Given the description of an element on the screen output the (x, y) to click on. 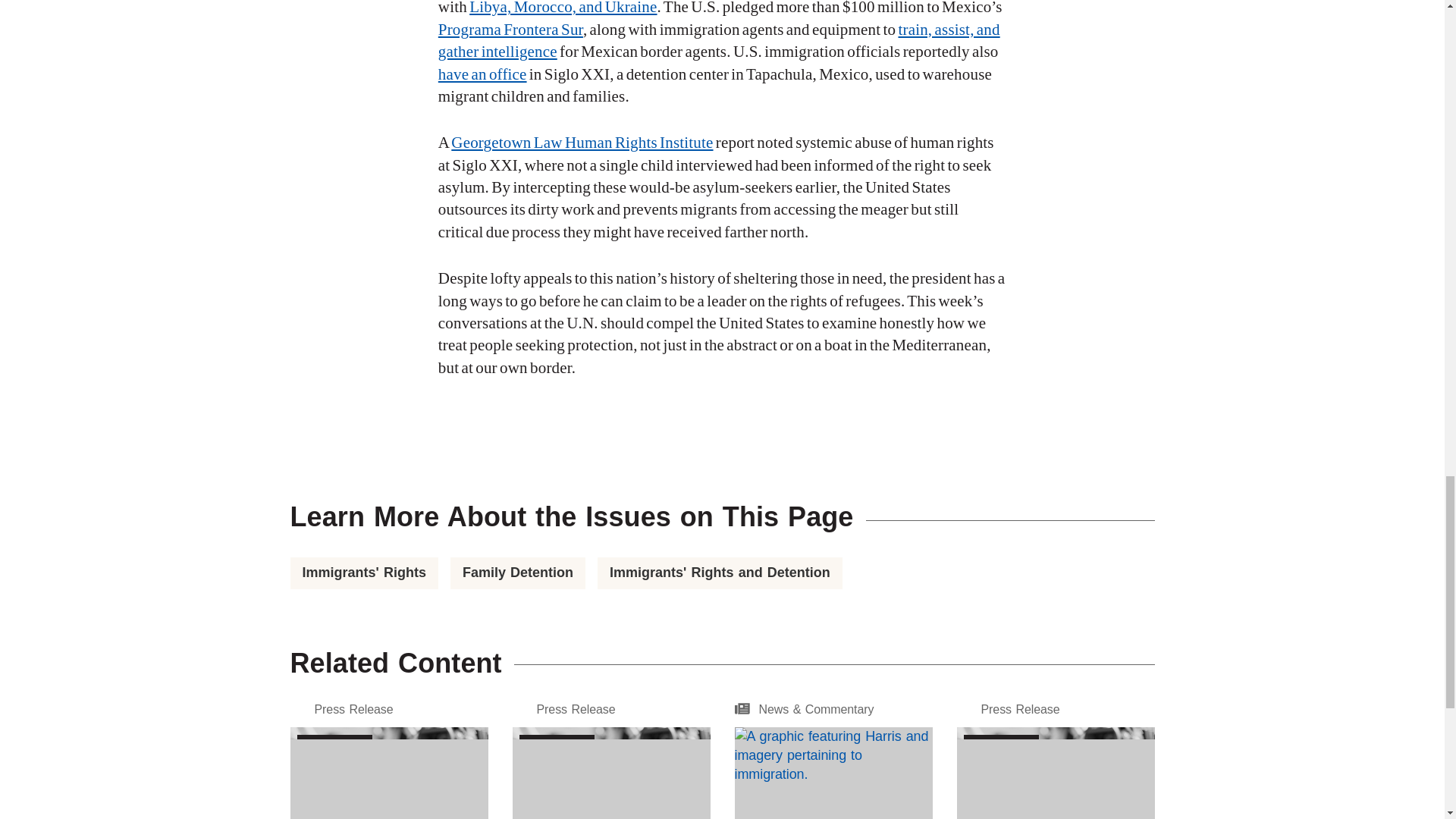
Family Detention (517, 572)
Programa Frontera Sur (510, 29)
have an office (482, 74)
Immigrants' Rights and Detention (719, 572)
train, assist, and gather intelligence (719, 40)
Immigrants' Rights (363, 572)
Libya, Morocco, and Ukraine (562, 7)
Georgetown Law Human Rights Institute (582, 142)
